Given the description of an element on the screen output the (x, y) to click on. 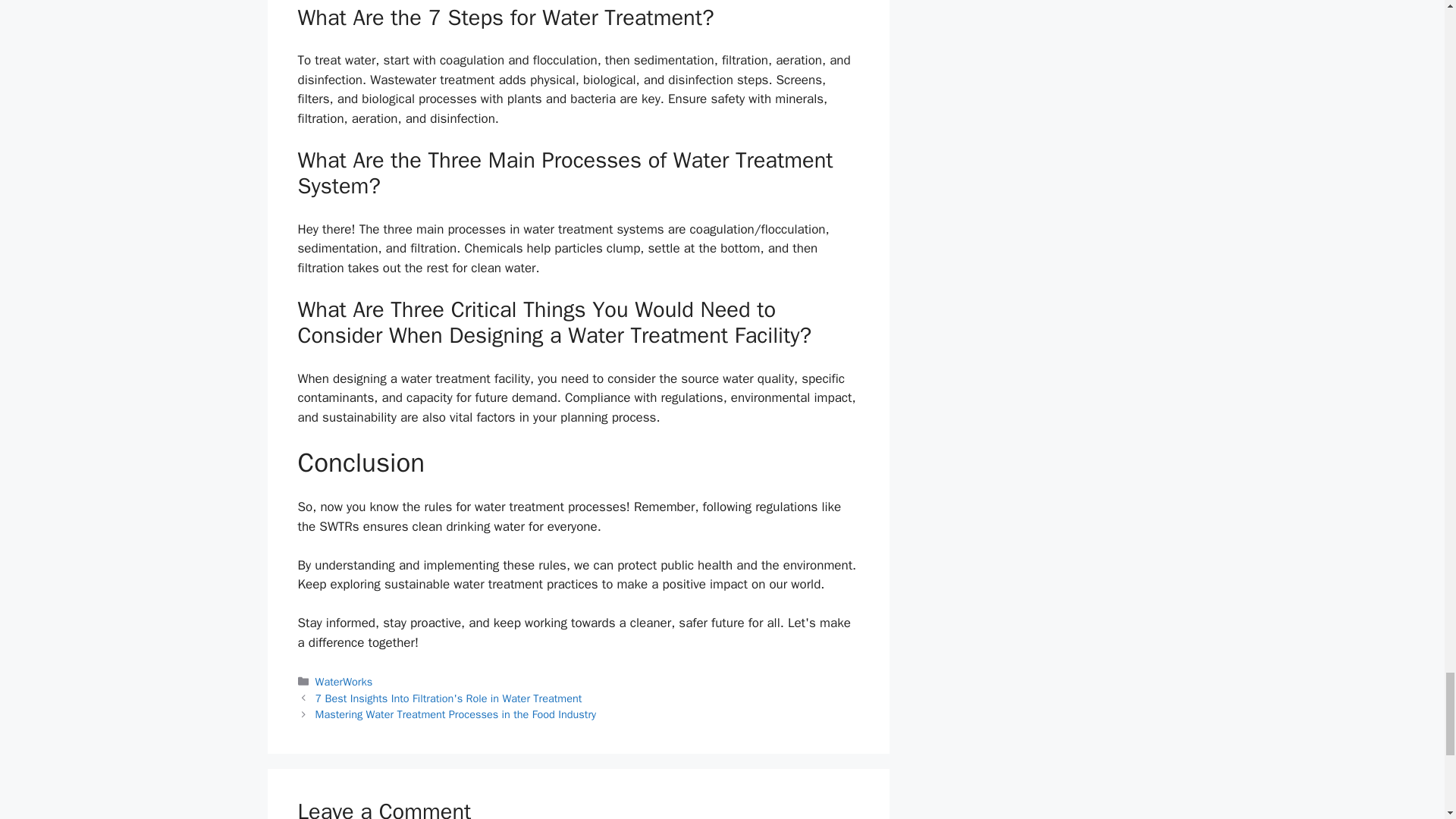
7 Best Insights Into Filtration's Role in Water Treatment (448, 698)
Mastering Water Treatment Processes in the Food Industry (455, 714)
WaterWorks (343, 681)
Previous (448, 698)
Next (455, 714)
